Given the description of an element on the screen output the (x, y) to click on. 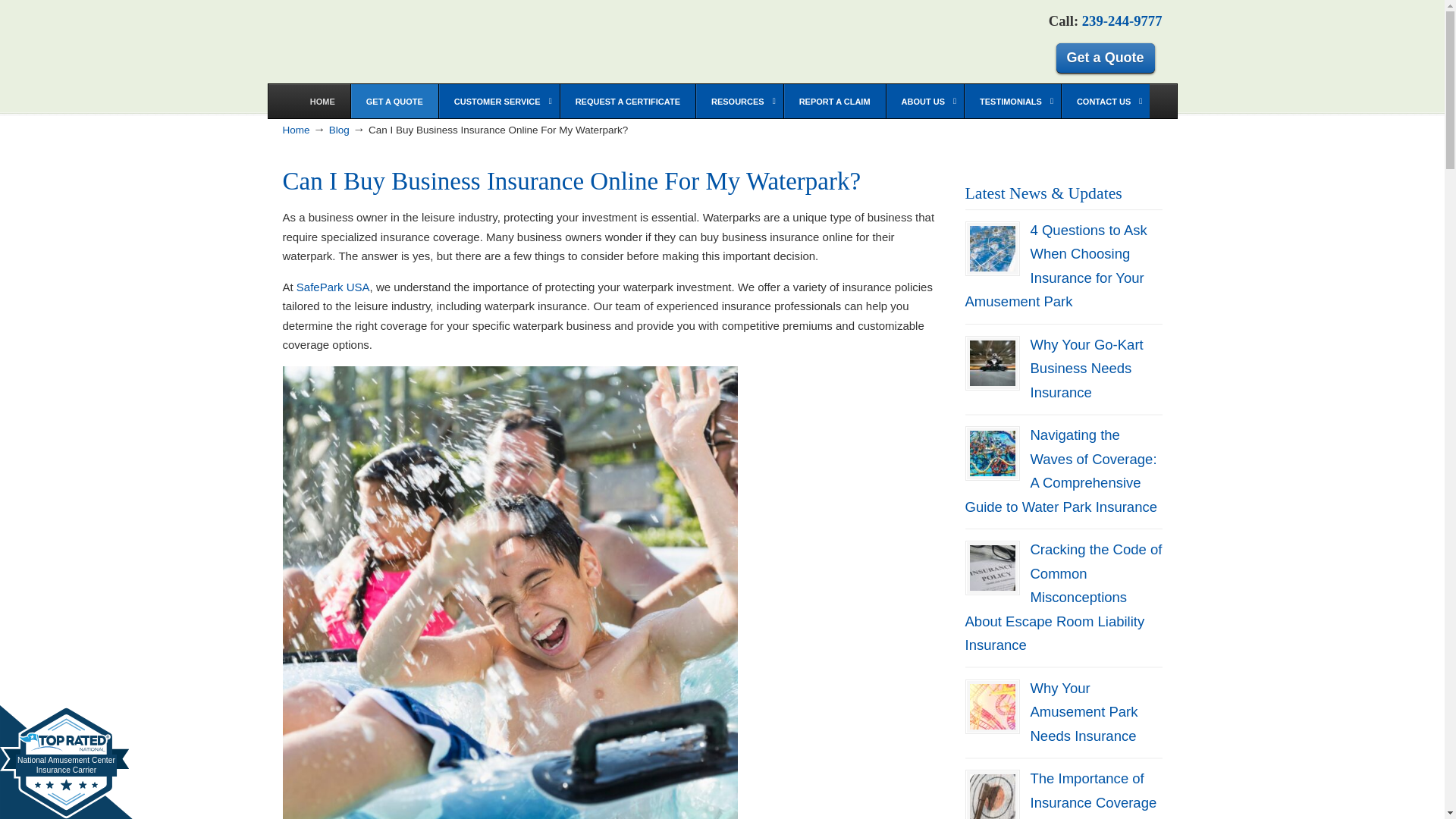
GET A QUOTE (394, 100)
REPORT A CLAIM (834, 100)
Why Your Amusement Park Needs Insurance (1083, 711)
Why Your Amusement Park Needs Insurance (991, 706)
RESOURCES (739, 100)
ABOUT US (924, 100)
CUSTOMER SERVICE (498, 100)
TESTIMONIALS (1012, 100)
SafePark USA (333, 286)
Why Your Go-Kart Business Needs Insurance (991, 362)
